Given the description of an element on the screen output the (x, y) to click on. 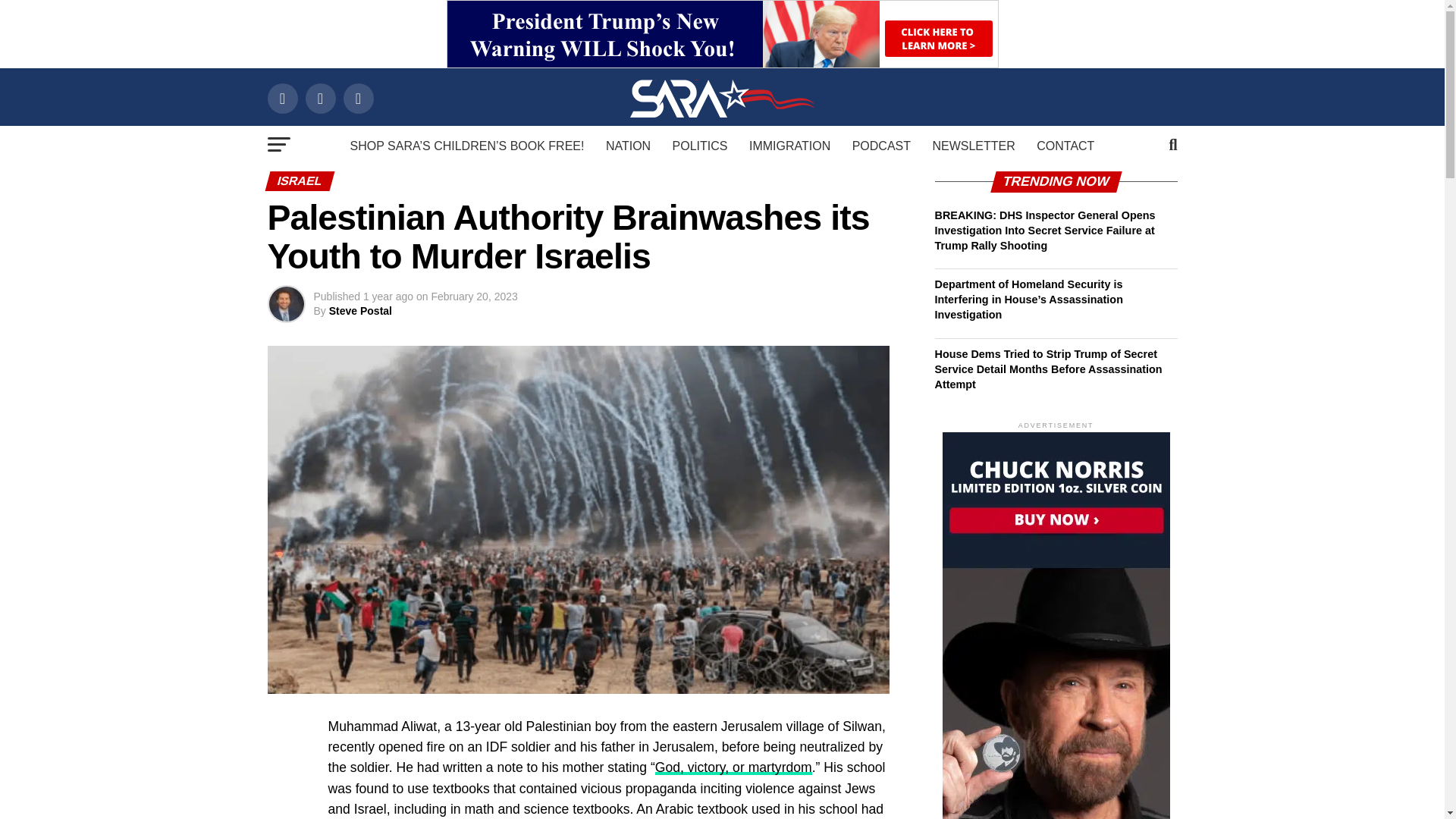
POLITICS (699, 146)
IMMIGRATION (789, 146)
Posts by Steve Postal (360, 310)
CONTACT (1065, 146)
NATION (627, 146)
God, victory, or martyrdom (733, 767)
NEWSLETTER (973, 146)
Steve Postal (360, 310)
PODCAST (881, 146)
